Given the description of an element on the screen output the (x, y) to click on. 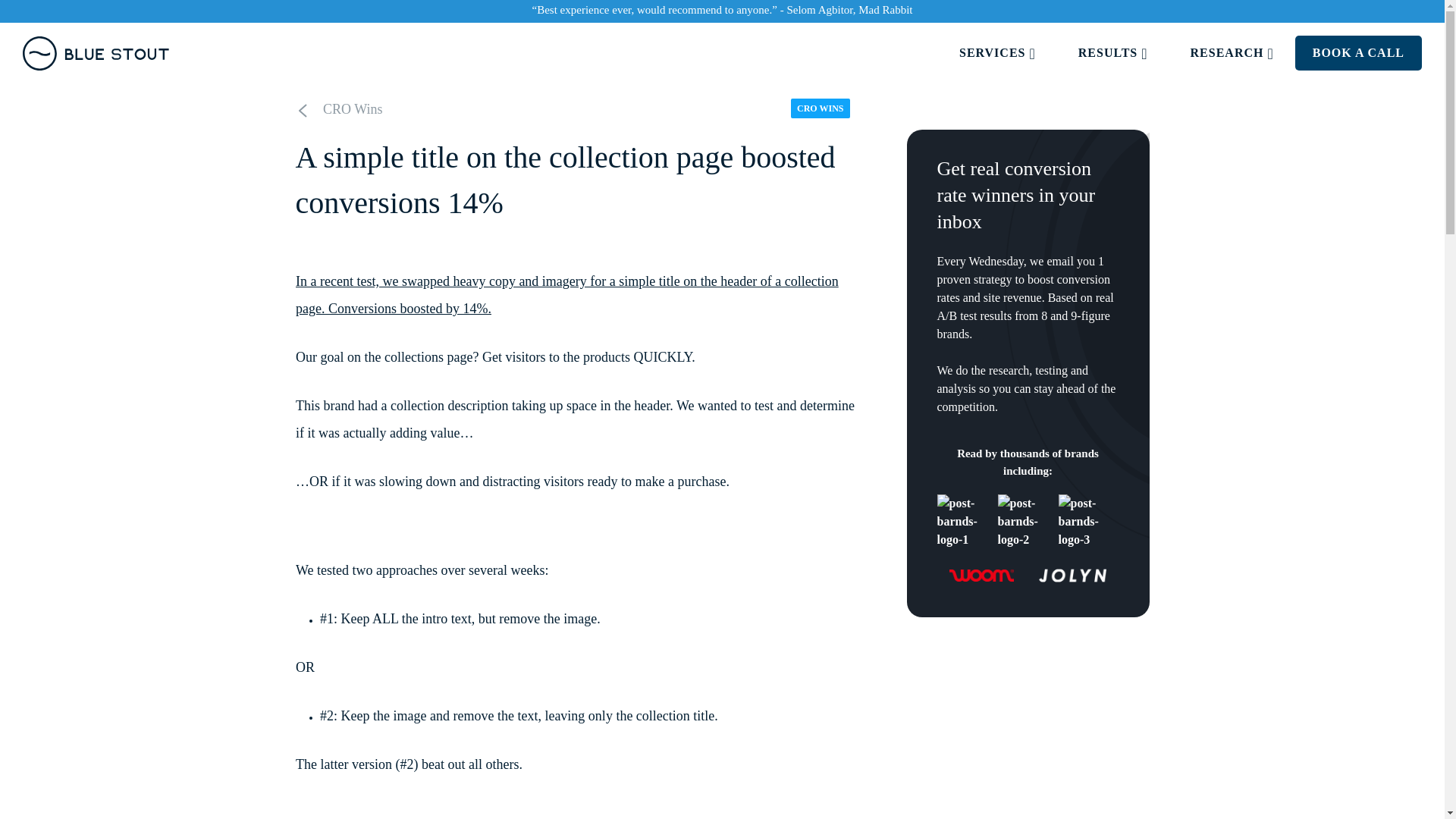
CRO Wins (349, 108)
RESEARCH (1232, 53)
SERVICES (997, 53)
RESULTS (1112, 53)
BOOK A CALL (1358, 53)
